Given the description of an element on the screen output the (x, y) to click on. 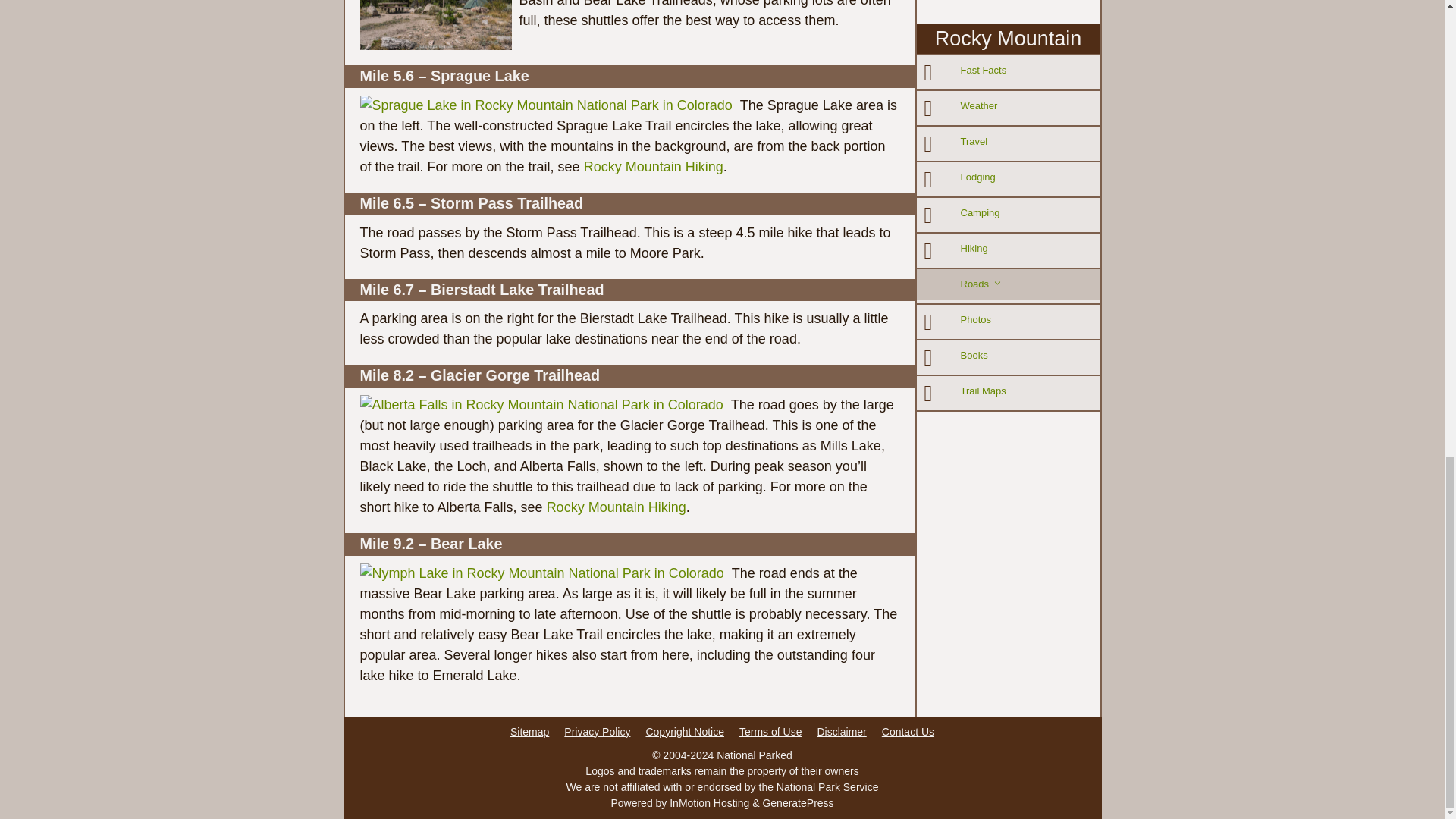
Terms of Use (770, 731)
GeneratePress (796, 802)
Rocky Mountain Hiking (653, 166)
Copyright Notice (684, 731)
Scroll back to top (1406, 501)
InMotion Hosting (709, 802)
Sitemap (529, 731)
Privacy Policy (597, 731)
Disclaimer (841, 731)
Contact Us (908, 731)
Rocky Mountain Hiking (616, 507)
